Given the description of an element on the screen output the (x, y) to click on. 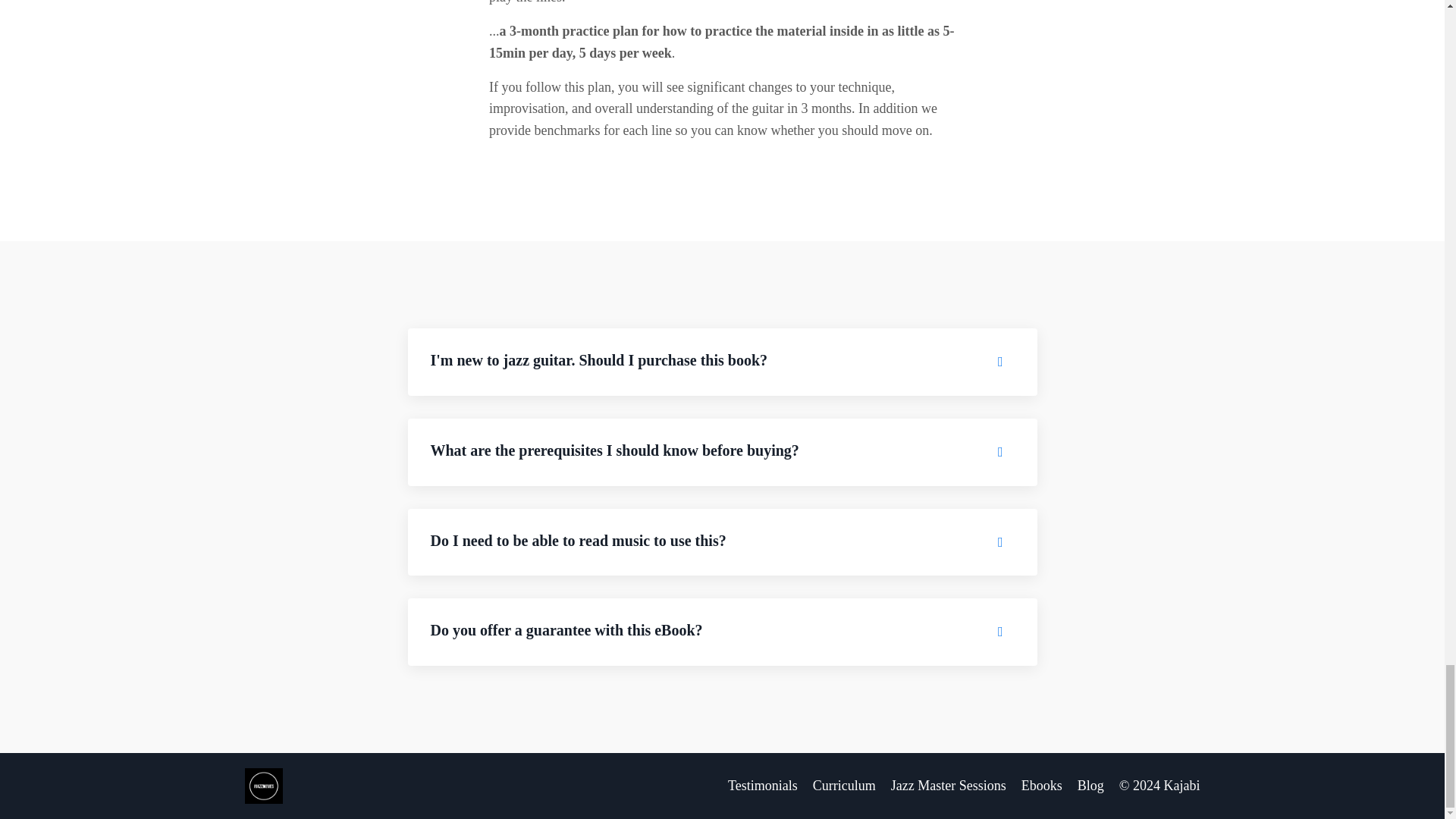
Testimonials (762, 785)
Ebooks (1042, 785)
Blog (1090, 785)
Jazz Master Sessions (948, 785)
Curriculum (844, 785)
